Given the description of an element on the screen output the (x, y) to click on. 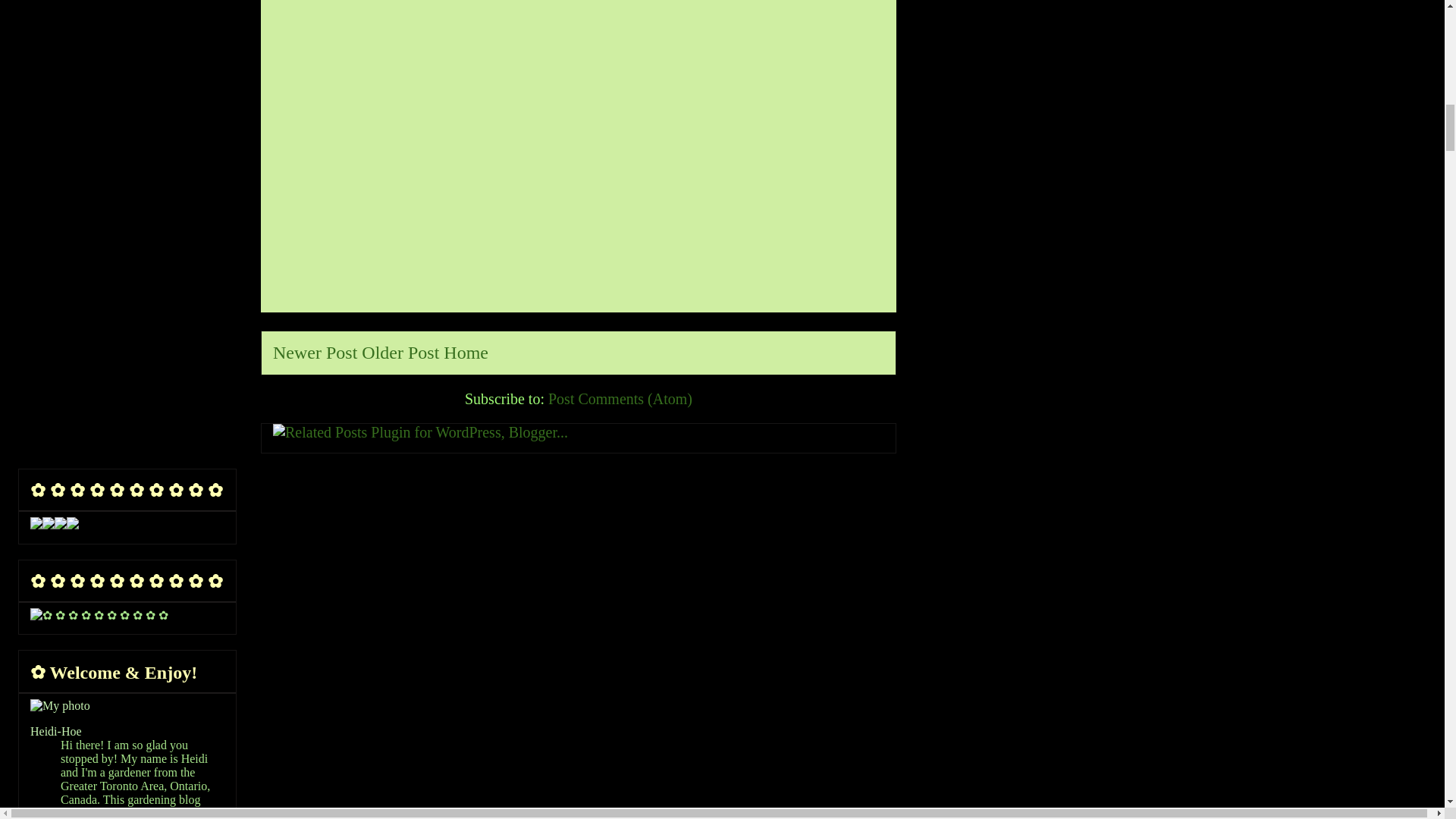
Heidi-Hoe (55, 730)
Home (465, 352)
Older Post (400, 352)
Newer Post (314, 352)
Older Post (400, 352)
Newer Post (314, 352)
